Given the description of an element on the screen output the (x, y) to click on. 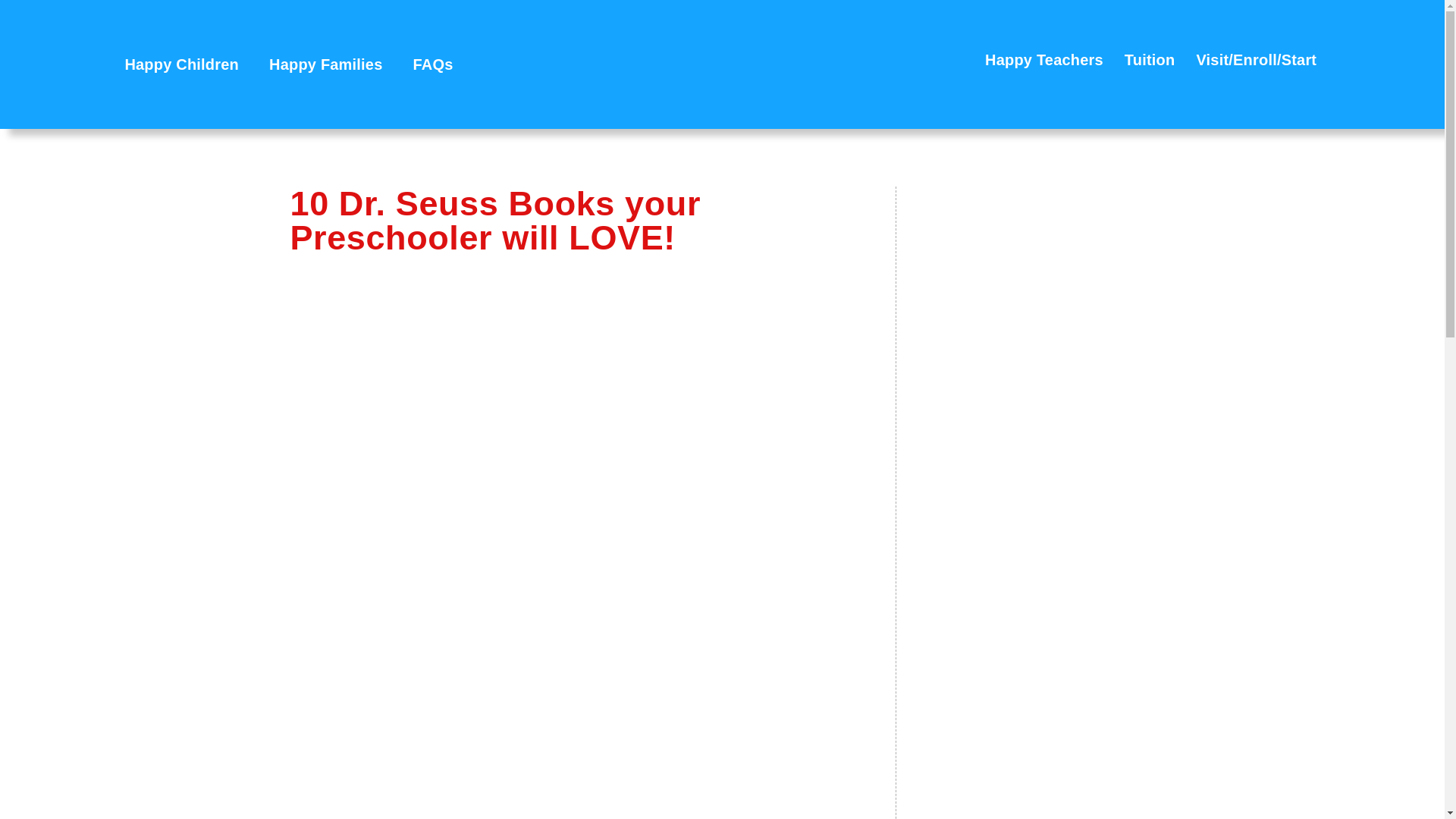
Happy Teachers (1043, 59)
FAQs (432, 64)
Happy Children (181, 64)
Tuition (1149, 59)
Happy Families (325, 64)
